Given the description of an element on the screen output the (x, y) to click on. 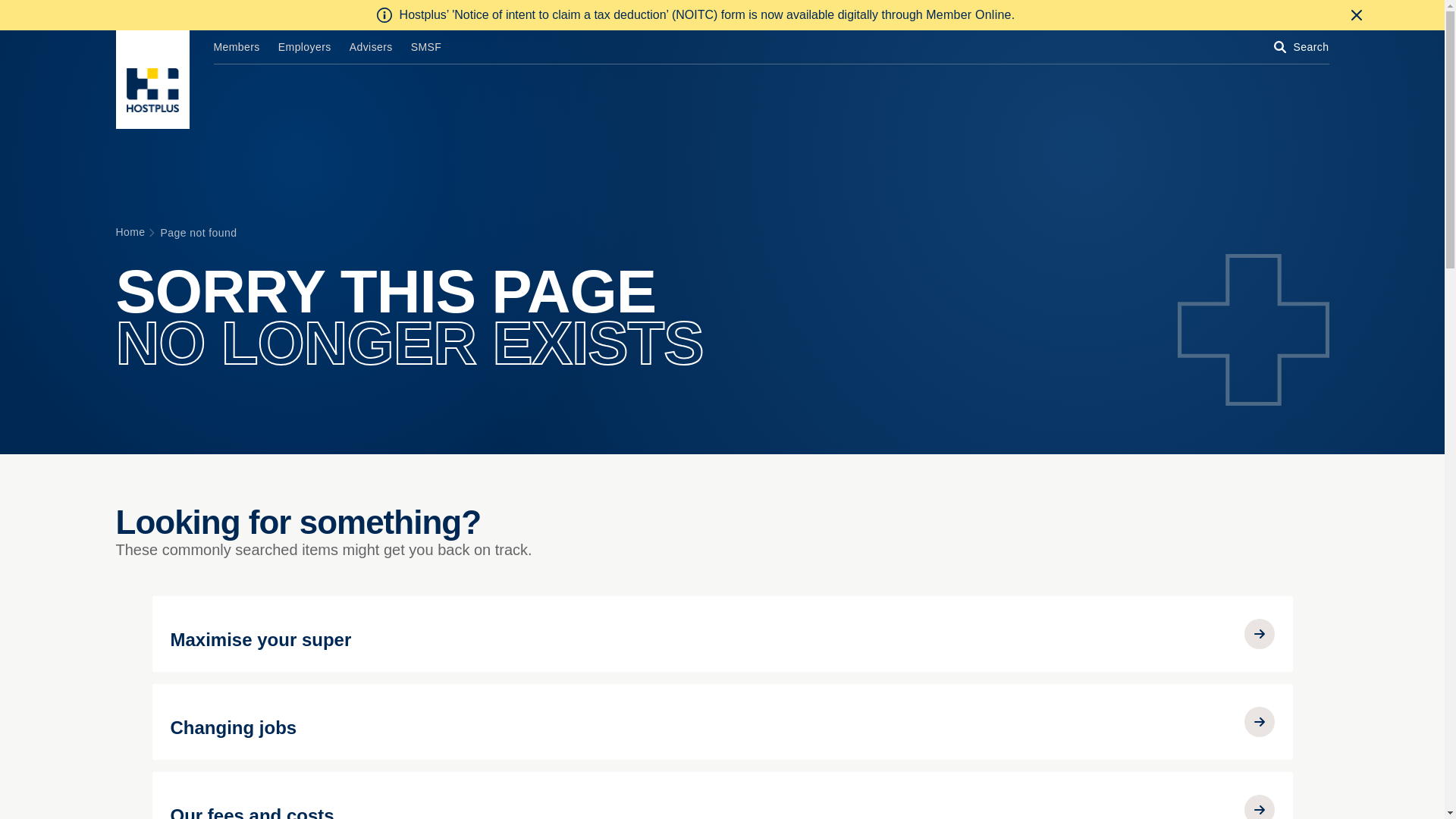
Members (237, 47)
SMSF (426, 47)
Advisers (371, 47)
Member Online. (970, 15)
Employers (304, 47)
